Given the description of an element on the screen output the (x, y) to click on. 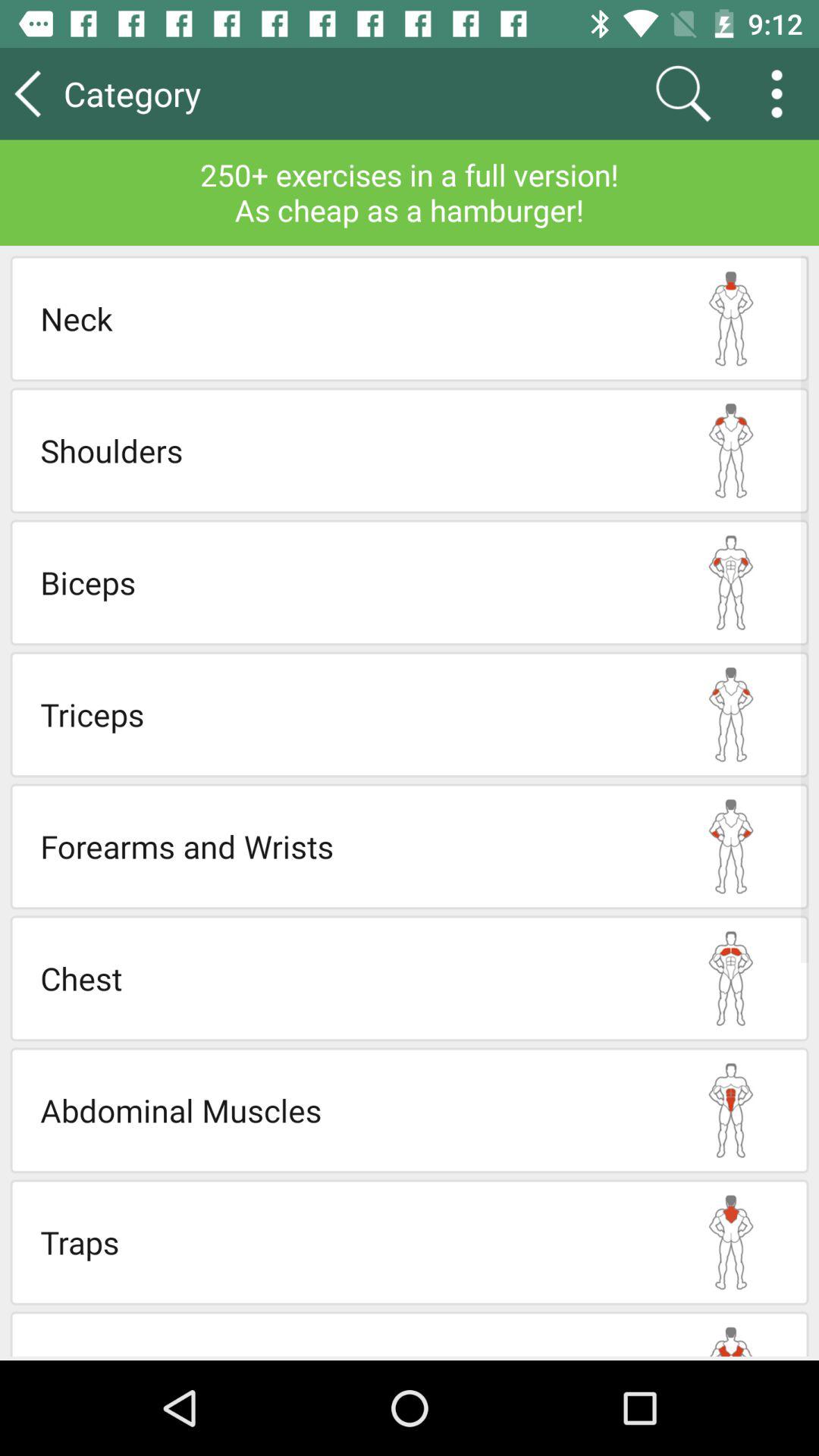
open forearms and wrists app (346, 846)
